Given the description of an element on the screen output the (x, y) to click on. 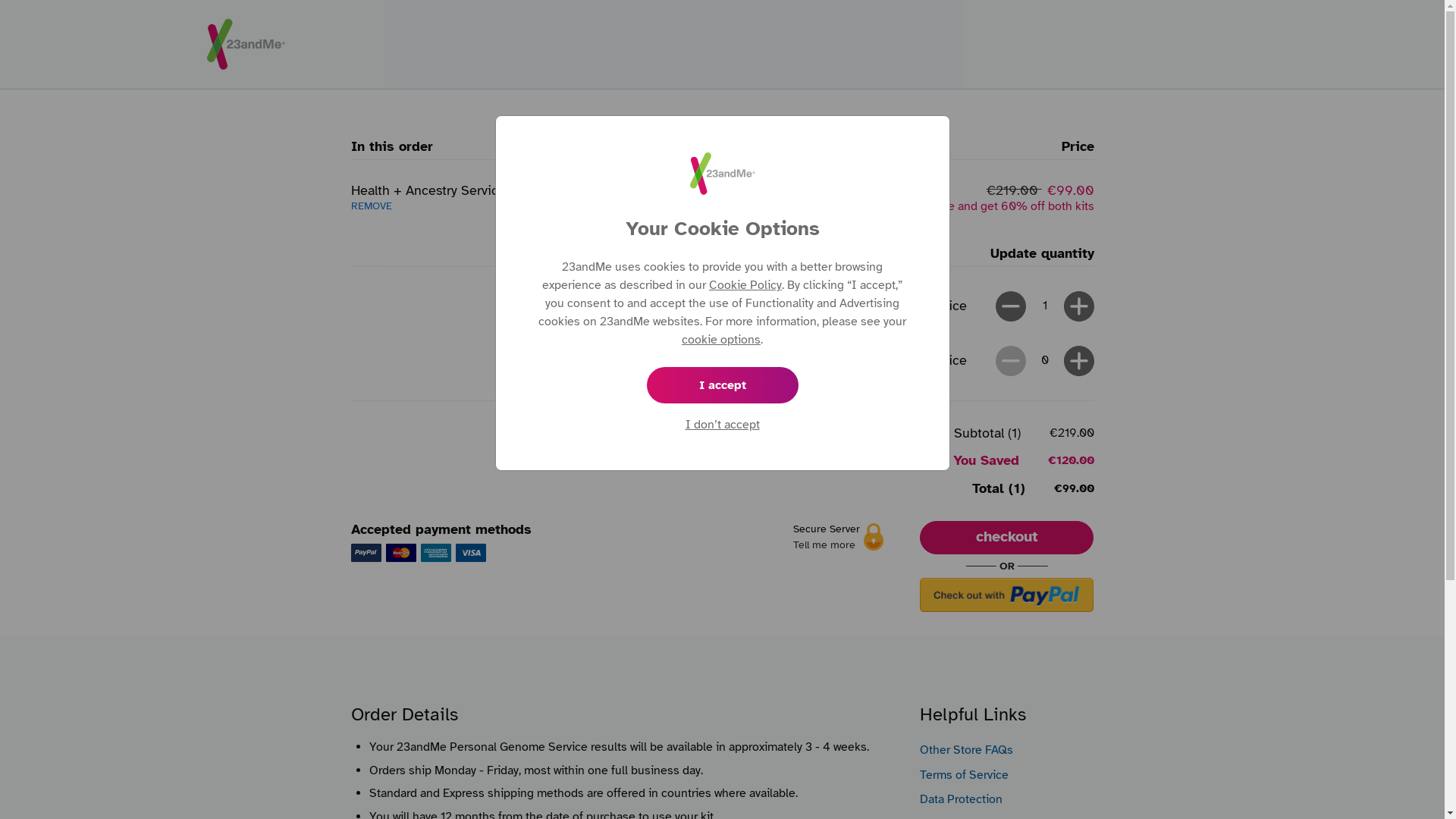
Tell me more Element type: text (824, 544)
cookie options Element type: text (720, 339)
checkout Element type: text (1006, 537)
I accept Element type: text (721, 385)
Other Store FAQs Element type: text (966, 749)
Data Protection Element type: text (960, 798)
Terms of Service Element type: text (963, 774)
REMOVE Element type: text (370, 205)
Cookie Policy Element type: text (745, 284)
